Given the description of an element on the screen output the (x, y) to click on. 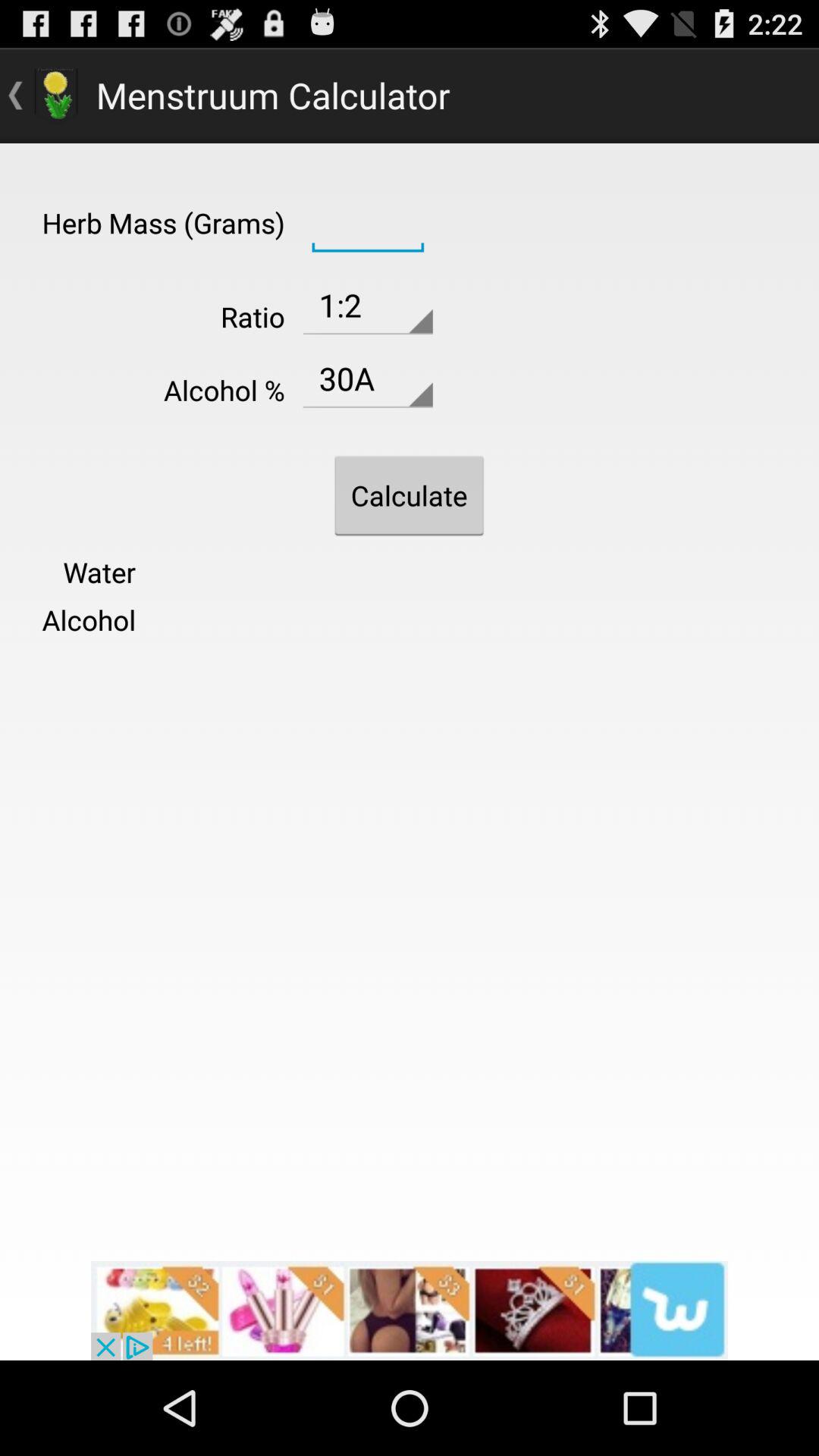
calculator (367, 221)
